Given the description of an element on the screen output the (x, y) to click on. 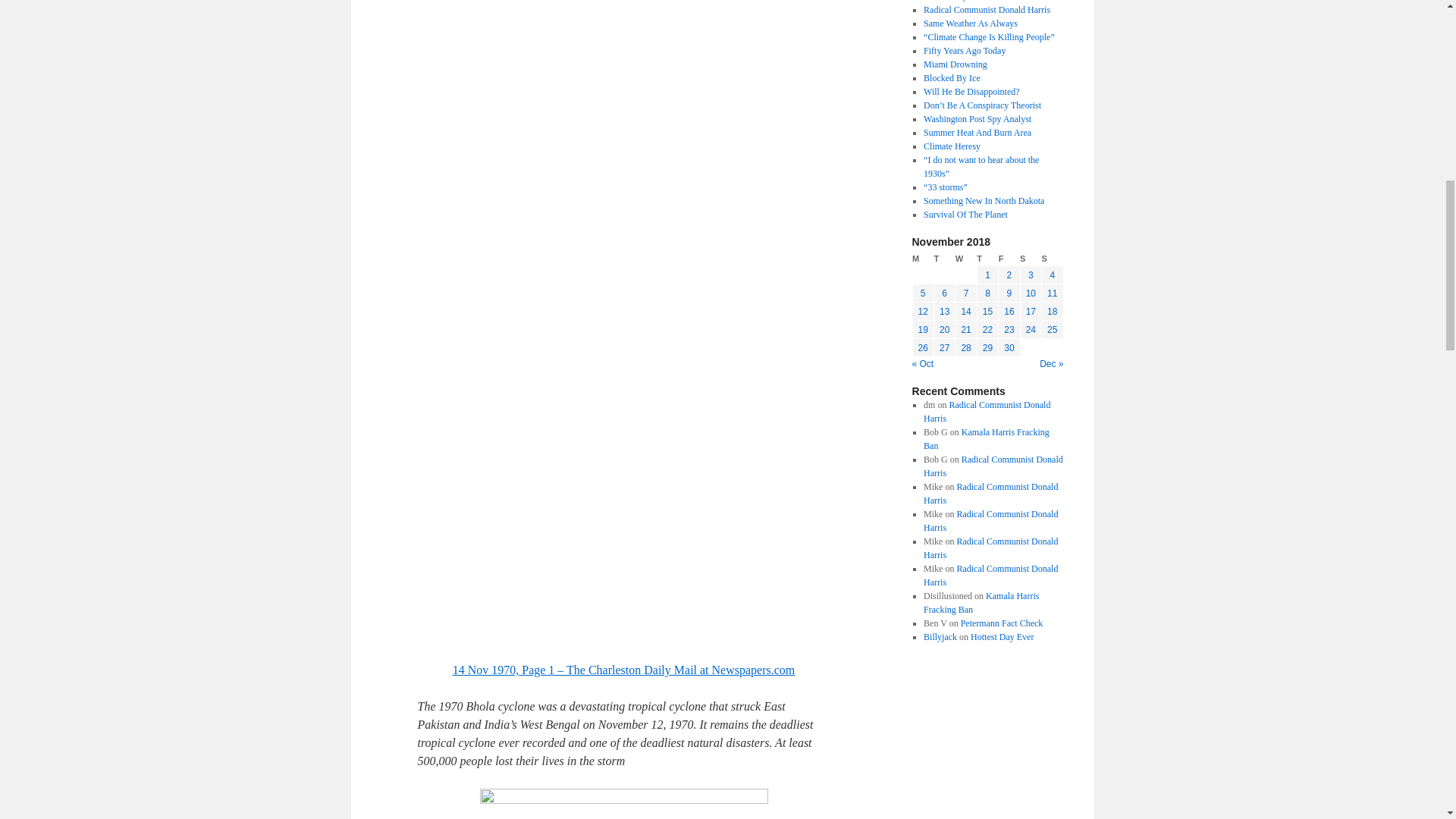
Thursday (986, 258)
Monday (922, 258)
Friday (1009, 258)
Saturday (1030, 258)
Sunday (1052, 258)
Wednesday (965, 258)
Tuesday (944, 258)
